Given the description of an element on the screen output the (x, y) to click on. 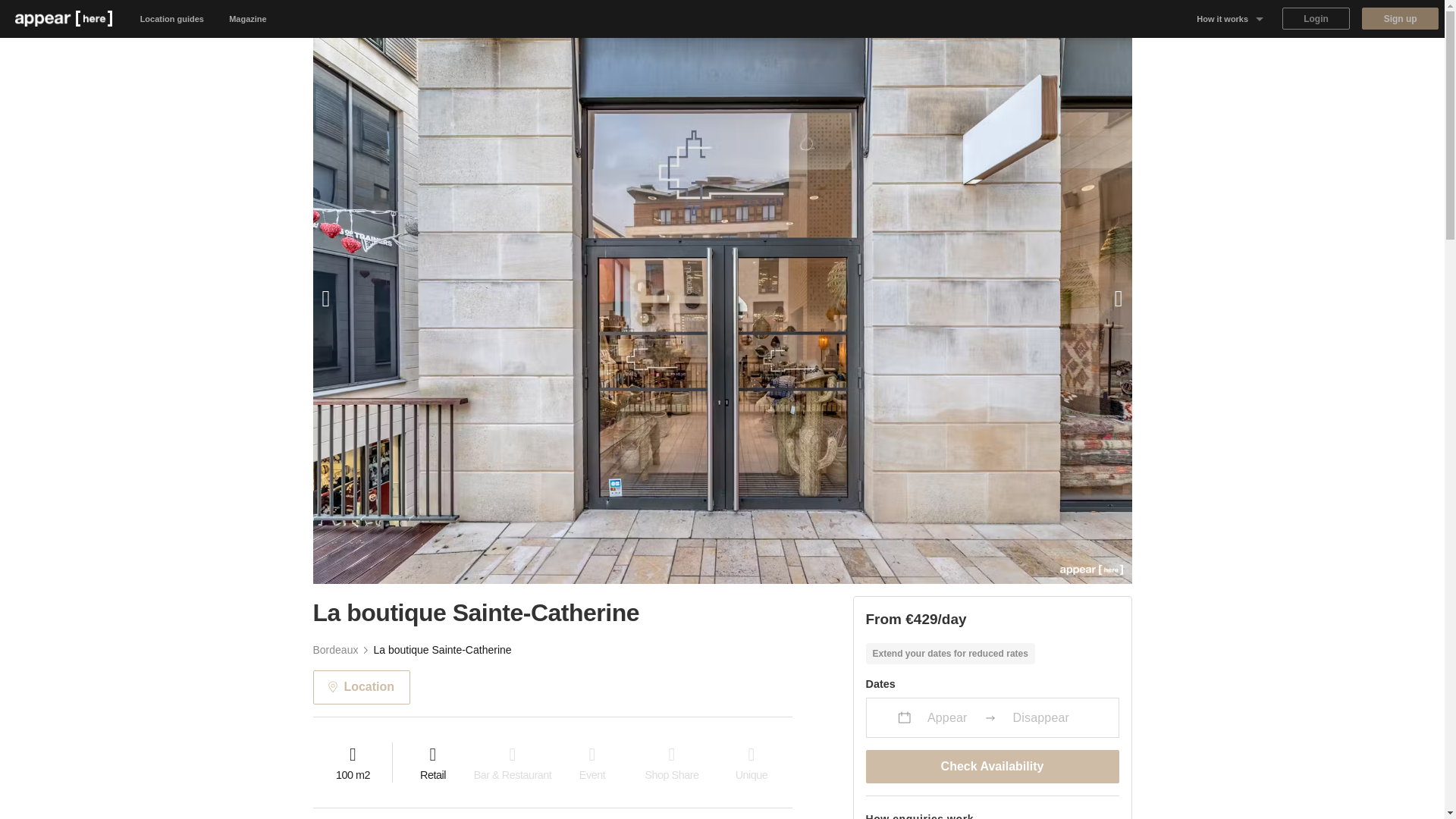
Location guides (172, 18)
Why Appear Here (1230, 56)
Magazine (247, 18)
How it works (1230, 18)
